Given the description of an element on the screen output the (x, y) to click on. 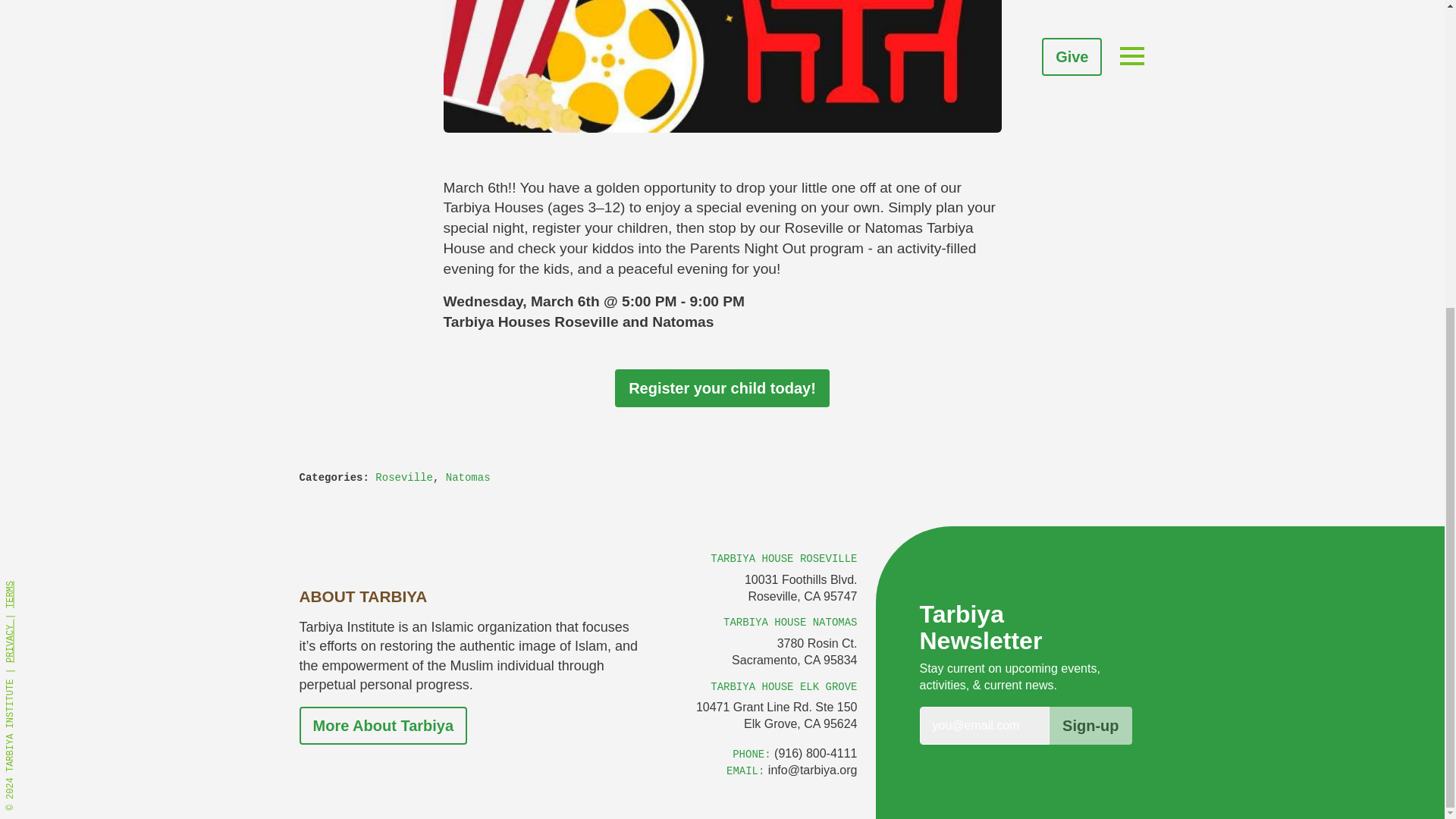
Register your child today! (721, 388)
Get Directions to Tarbiya House Natomas (776, 715)
Get Directions to Tarbiya House Roseville (800, 587)
Get Directions to Tarbiya House Natomas (794, 651)
Sign-up (1090, 725)
